Given the description of an element on the screen output the (x, y) to click on. 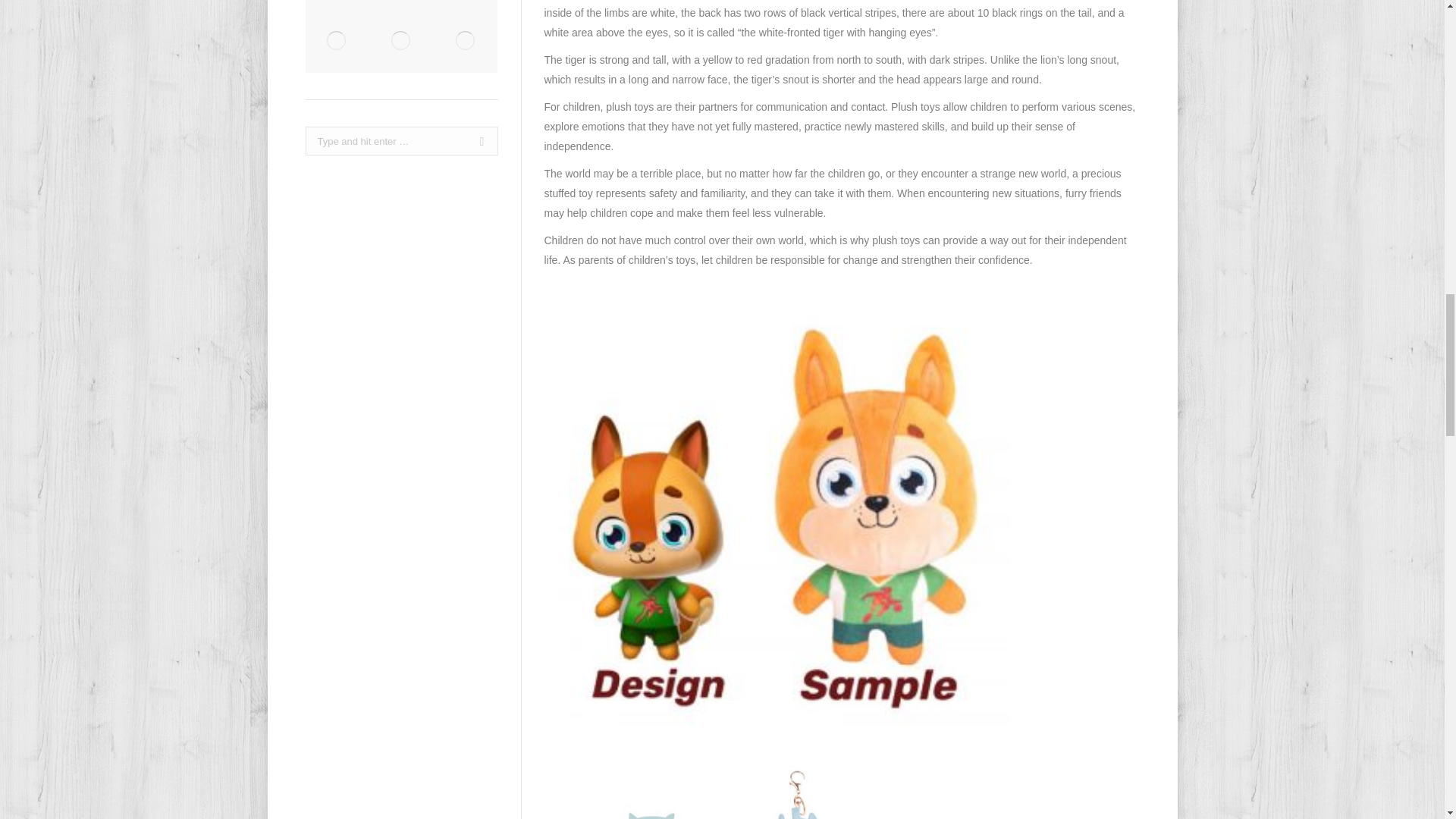
Go! (476, 140)
Go! (476, 140)
